Given the description of an element on the screen output the (x, y) to click on. 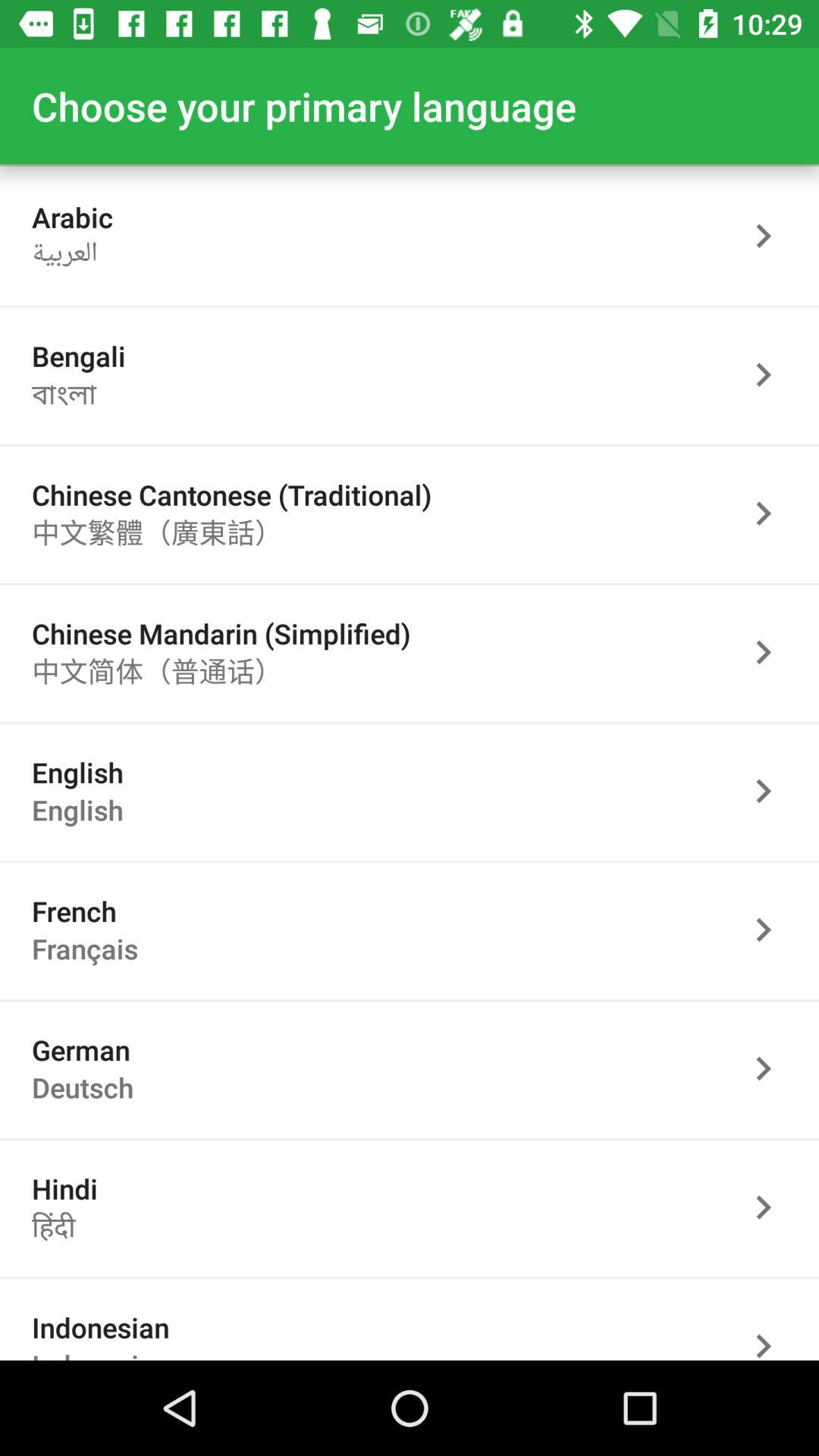
pick this language (771, 513)
